Given the description of an element on the screen output the (x, y) to click on. 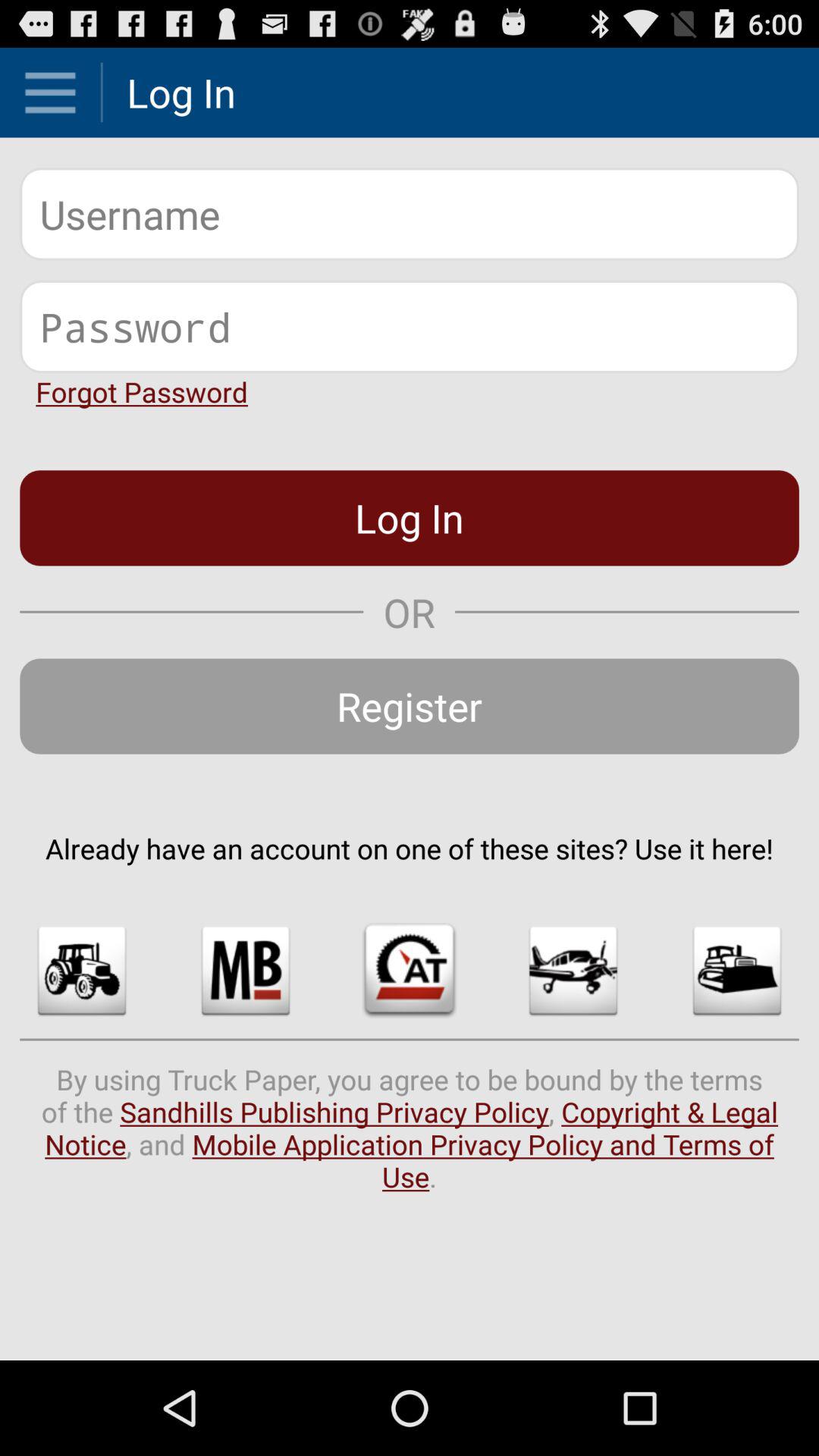
select the icon above already have an app (409, 706)
